Given the description of an element on the screen output the (x, y) to click on. 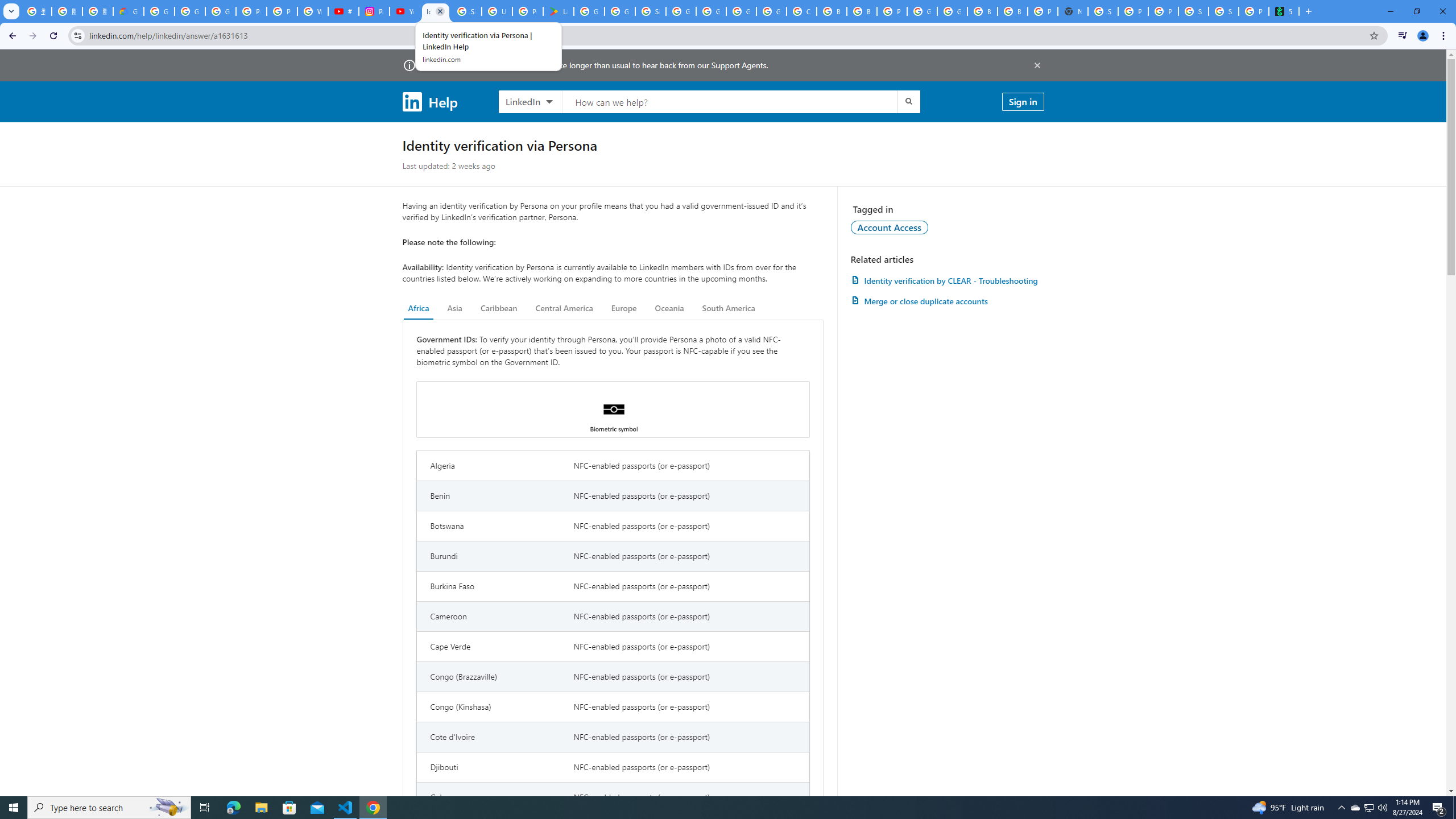
Submit search (908, 101)
Sign in - Google Accounts (650, 11)
